Given the description of an element on the screen output the (x, y) to click on. 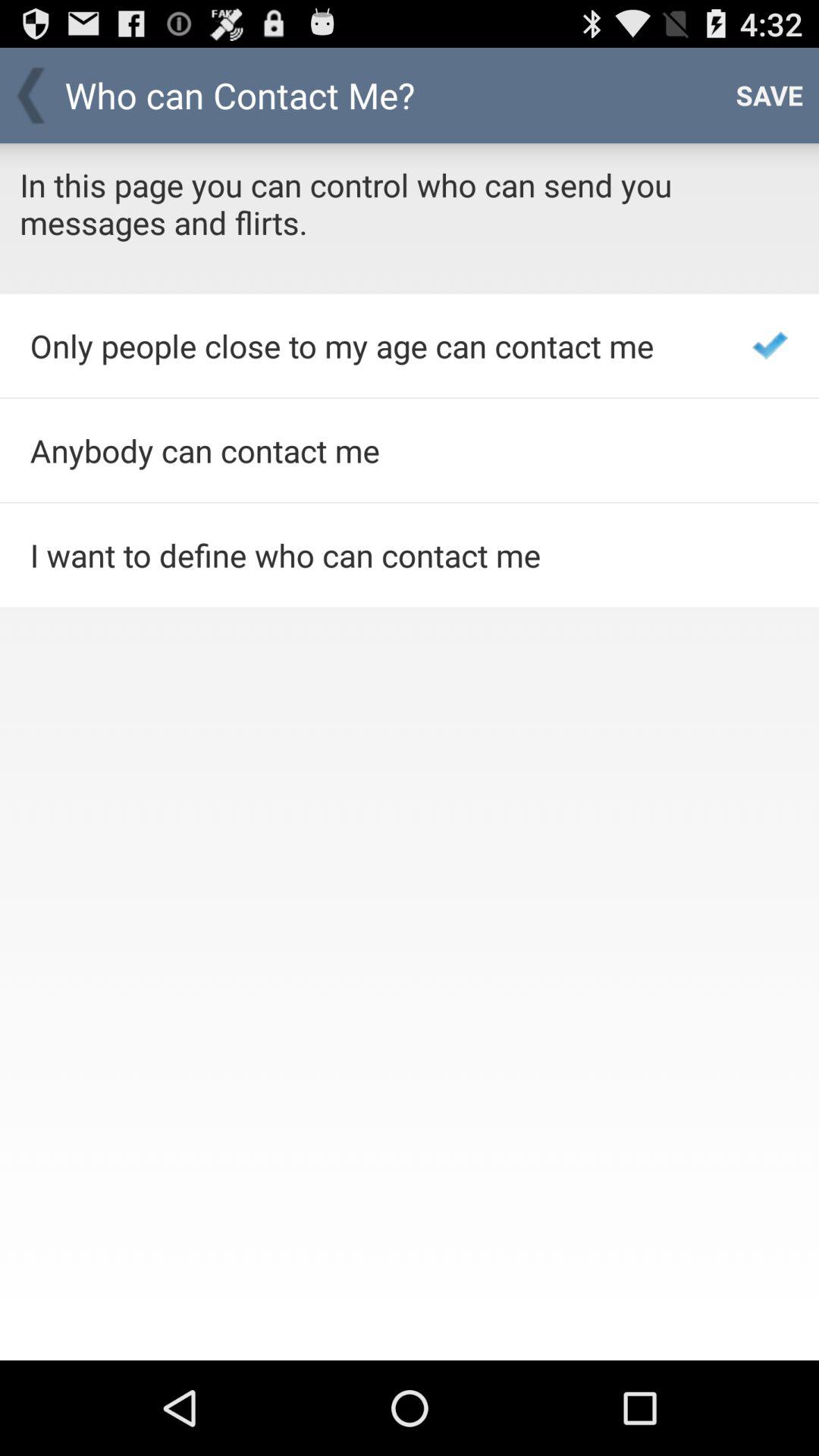
scroll until only people close app (371, 345)
